Given the description of an element on the screen output the (x, y) to click on. 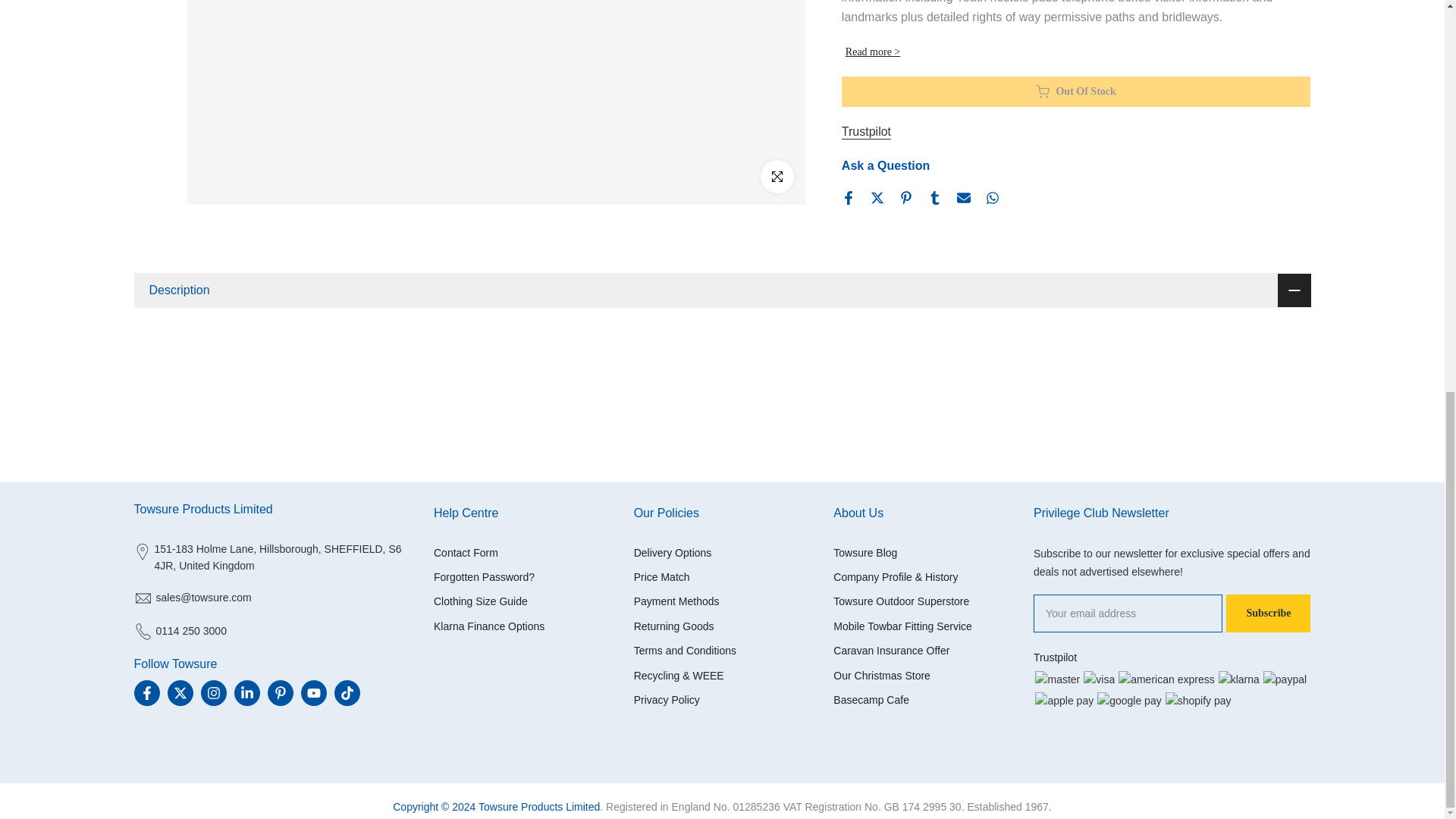
Share on Tumblr (935, 197)
Follow on Instagram (212, 692)
Share on Email (963, 197)
Share on Twitter (876, 197)
Follow on Facebook (145, 692)
Follow on Linkedin (245, 692)
Share on WhatsApp (991, 197)
Share on Pinterest (905, 197)
Follow on Pinterest (279, 692)
Follow on Twitter (179, 692)
